Given the description of an element on the screen output the (x, y) to click on. 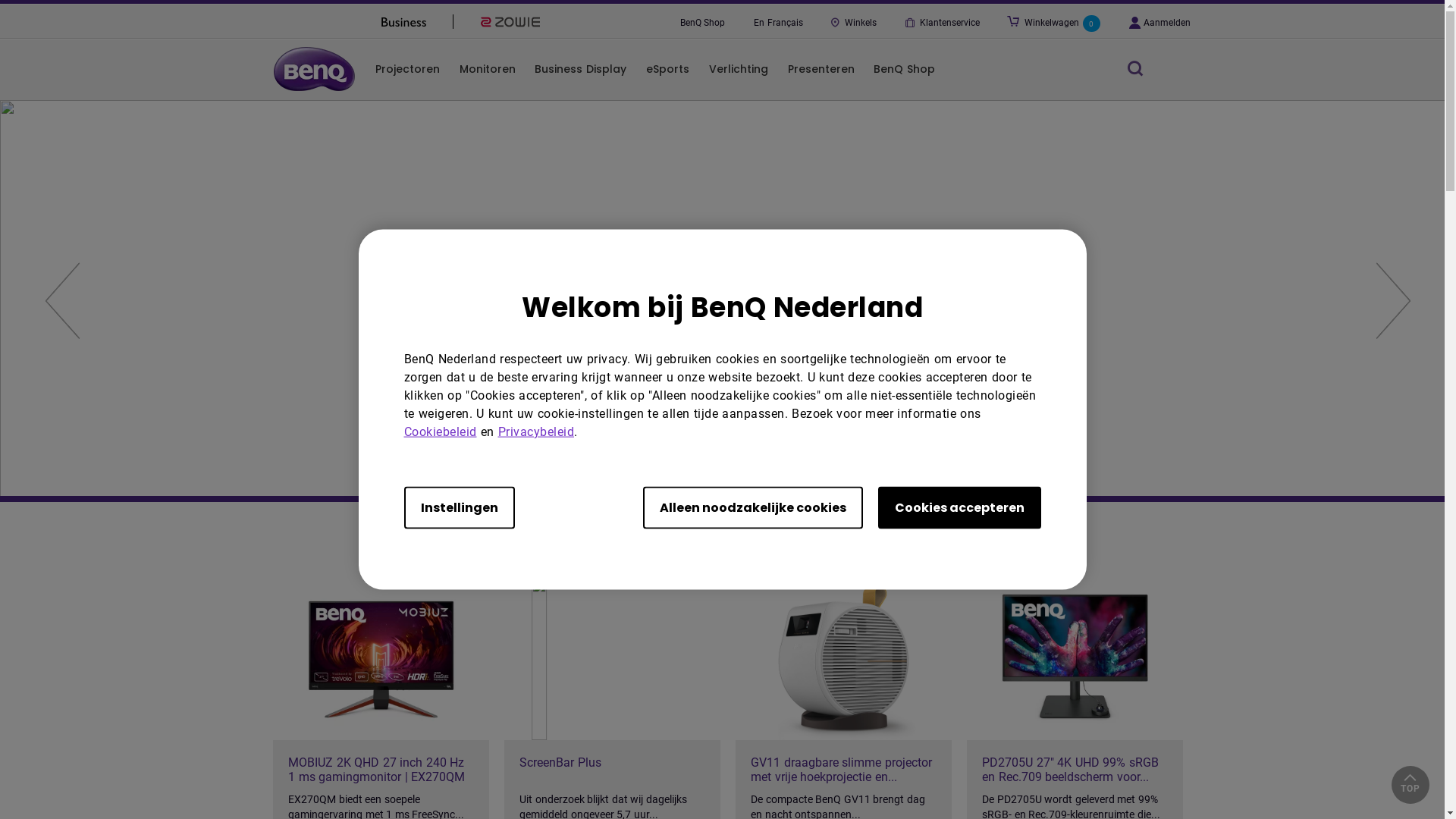
Previous Element type: text (60, 301)
Monitoren Element type: text (486, 68)
Business Display Element type: text (580, 68)
Meer Informatie Element type: text (378, 434)
Winkelwagen0 Element type: text (1061, 23)
Klantenservice Element type: text (940, 23)
Cookies accepteren Element type: text (959, 507)
Next Element type: text (1395, 301)
Verlichting Element type: text (738, 68)
Privacybeleid Element type: text (535, 430)
Instellingen Element type: text (458, 507)
Aanmelden Element type: text (1158, 23)
eSports Element type: text (667, 68)
Projectoren Element type: text (407, 68)
Cookiebeleid Element type: text (439, 430)
BenQ Shop Element type: text (904, 68)
Presenteren Element type: text (820, 68)
BenQ Shop Element type: text (700, 23)
Alleen noodzakelijke cookies Element type: text (752, 507)
Winkels Element type: text (852, 23)
